Given the description of an element on the screen output the (x, y) to click on. 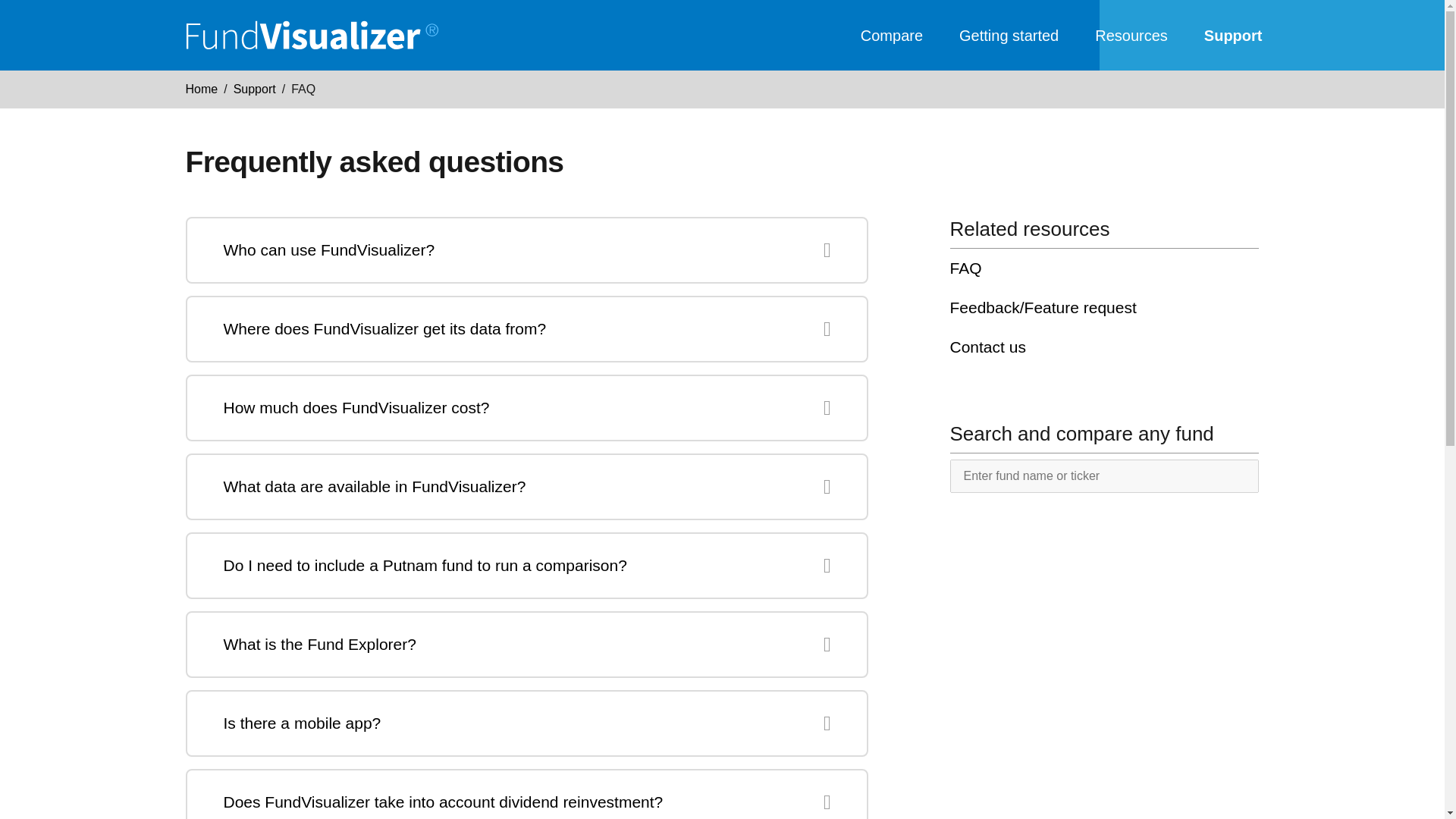
Support (1233, 35)
Home (200, 88)
Who can use FundVisualizer? (525, 249)
Compare (891, 35)
Contact us (1104, 347)
Resources (1130, 35)
How much does FundVisualizer cost? (525, 407)
Does FundVisualizer take into account dividend reinvestment? (525, 801)
FAQ (1104, 267)
Is there a mobile app? (525, 723)
